Given the description of an element on the screen output the (x, y) to click on. 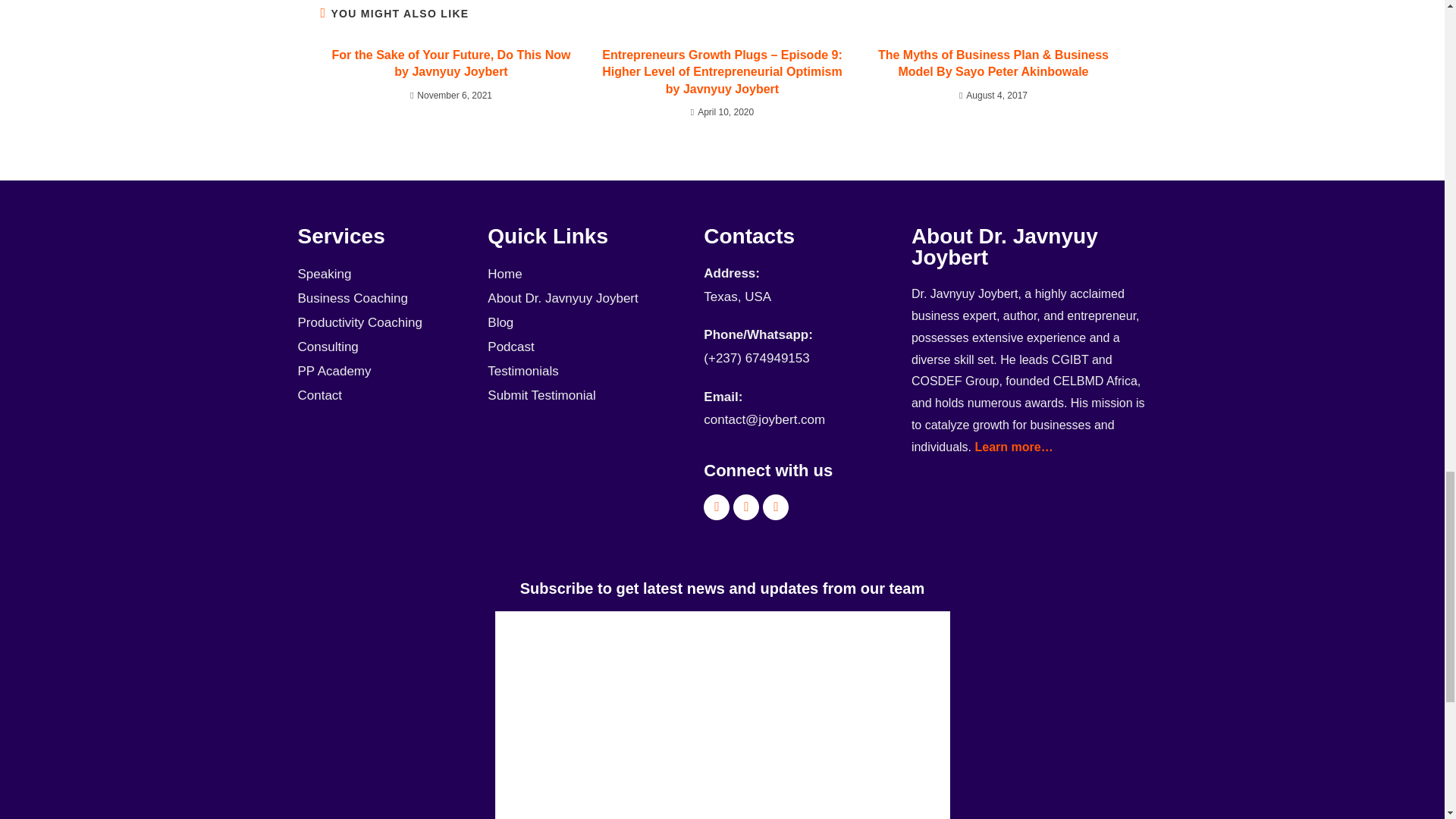
Speaking (384, 274)
Business Coaching (384, 298)
Productivity Coaching (384, 322)
For the Sake of Your Future, Do This Now by Javnyuy Joybert (450, 63)
